Given the description of an element on the screen output the (x, y) to click on. 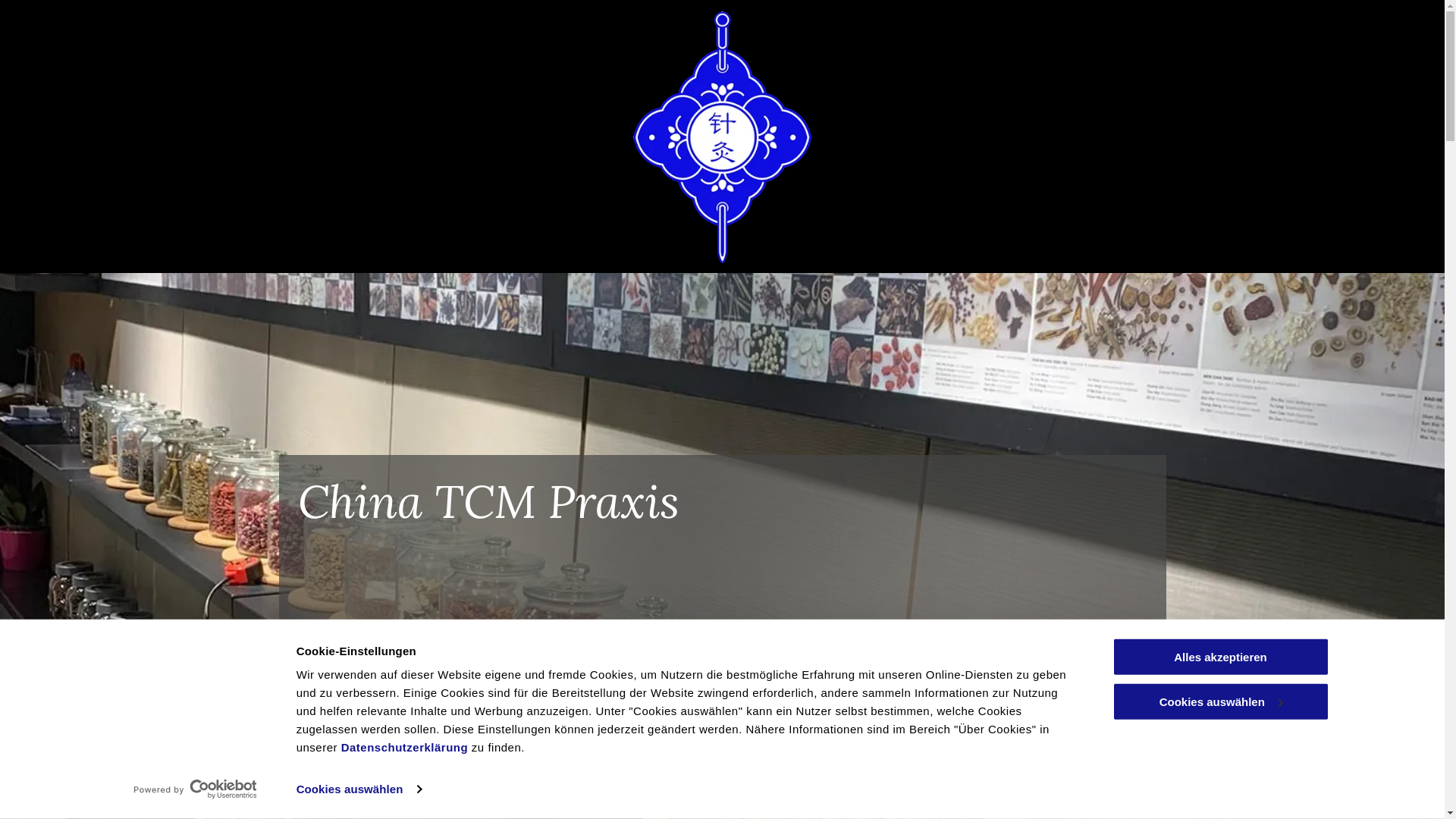
Anruf
Praxis
Volketswil Element type: text (633, 765)
Alles akzeptieren Element type: text (1219, 656)
Anruf Praxis St. Gallen Element type: text (409, 741)
